Given the description of an element on the screen output the (x, y) to click on. 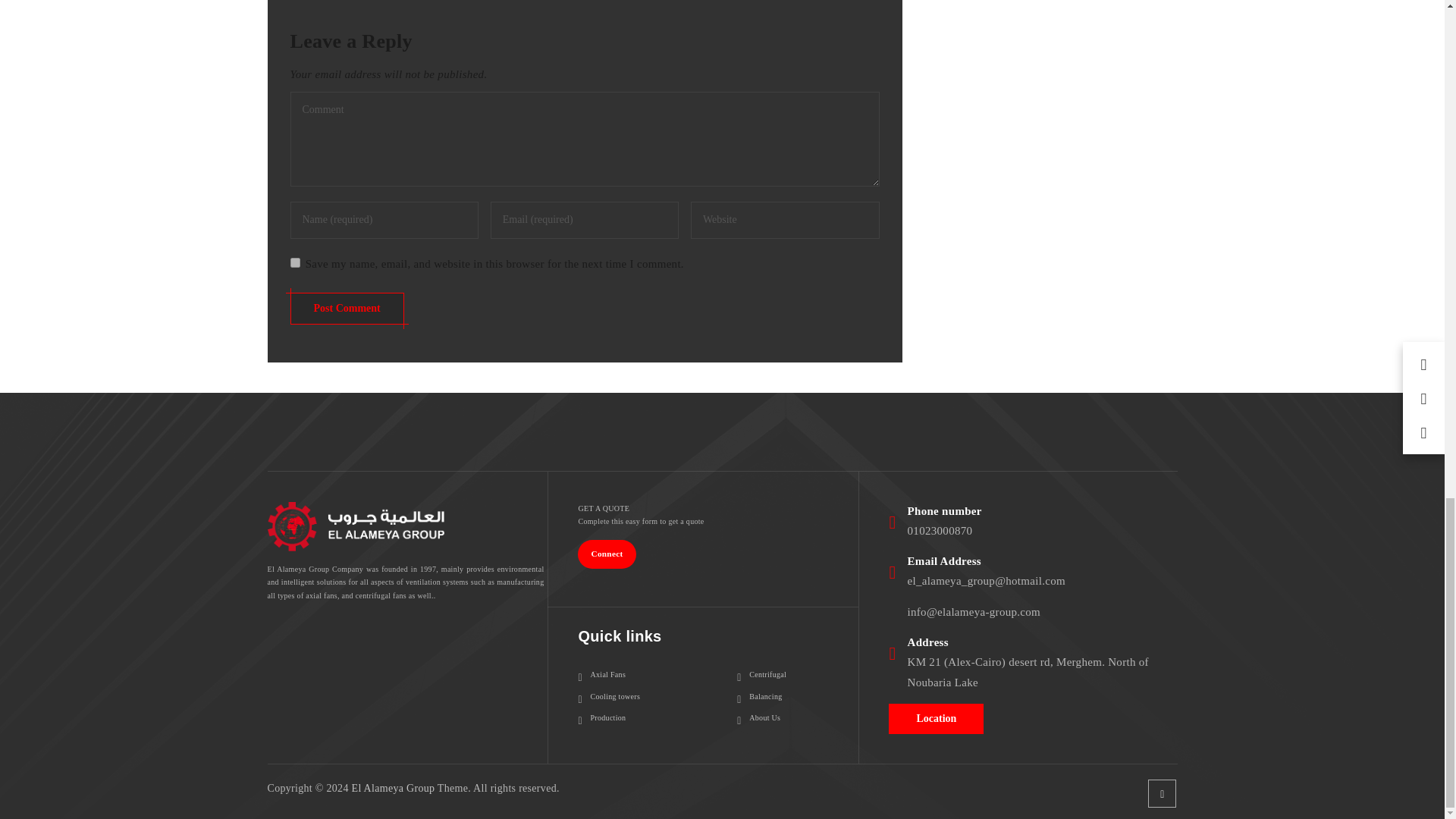
Post Comment (346, 308)
Post Comment (346, 308)
Location (935, 717)
Production (602, 717)
About Us (758, 717)
Location (936, 718)
Centrifugal (761, 674)
Balancing (758, 696)
Cooling towers (609, 696)
Connect (606, 554)
